Given the description of an element on the screen output the (x, y) to click on. 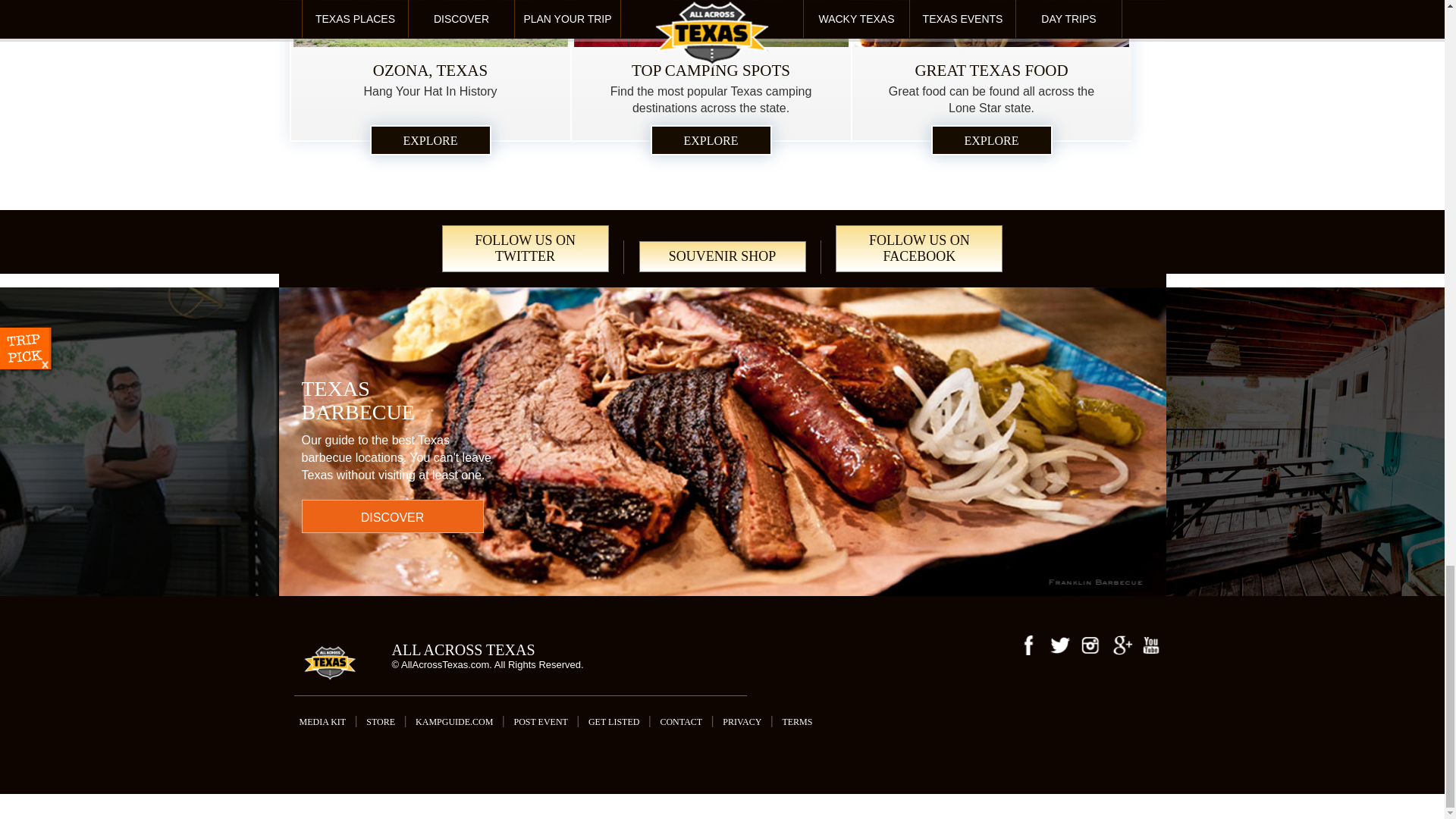
Texas Tourism (329, 666)
